Given the description of an element on the screen output the (x, y) to click on. 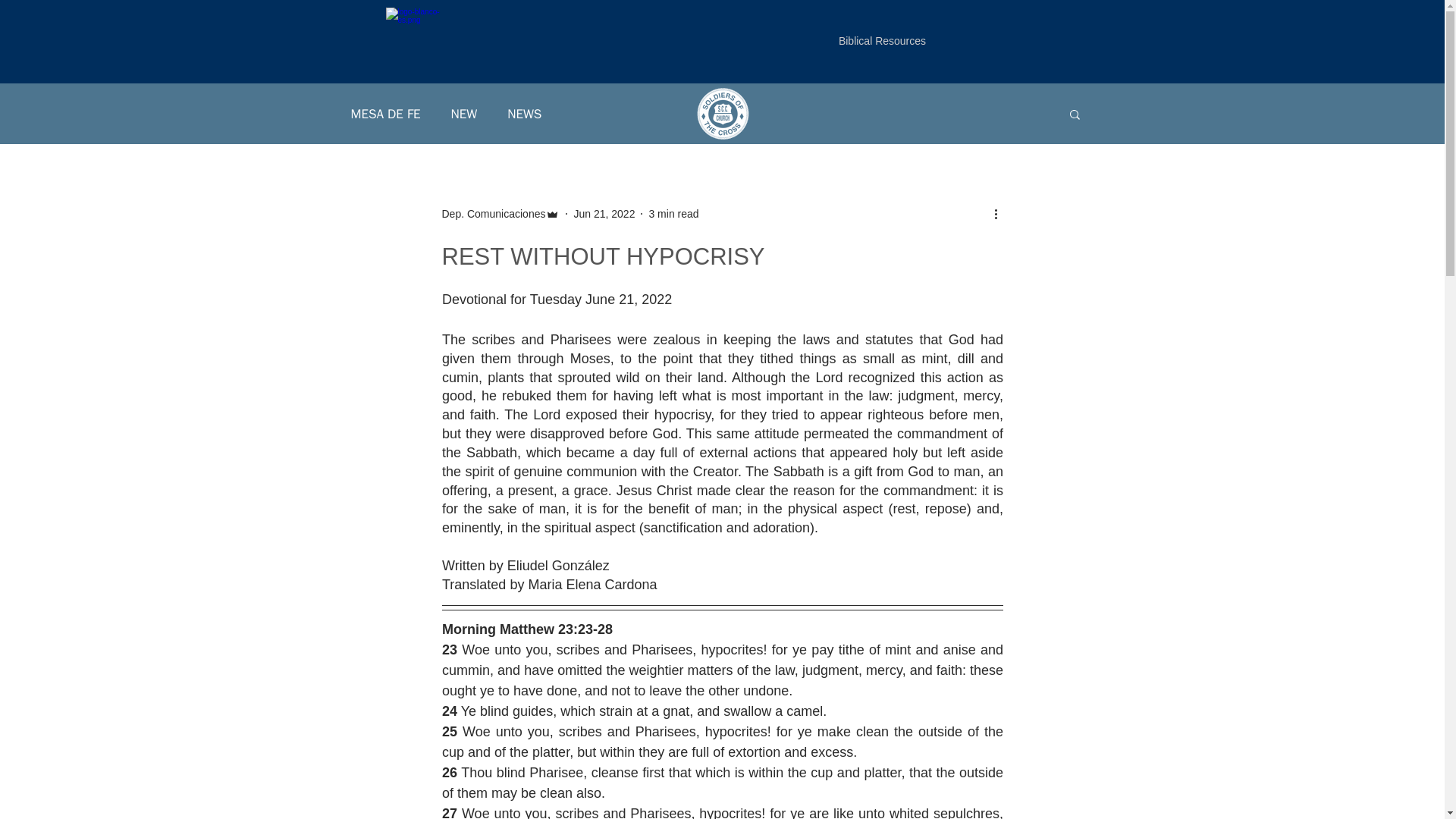
3 min read (672, 214)
MESA DE FE (385, 113)
NEW (464, 113)
Jun 21, 2022 (603, 214)
Leaders Resources (558, 71)
Log In (1060, 60)
NEWS (523, 113)
Events (430, 71)
Radio (376, 71)
Biblical Resources (882, 41)
